Given the description of an element on the screen output the (x, y) to click on. 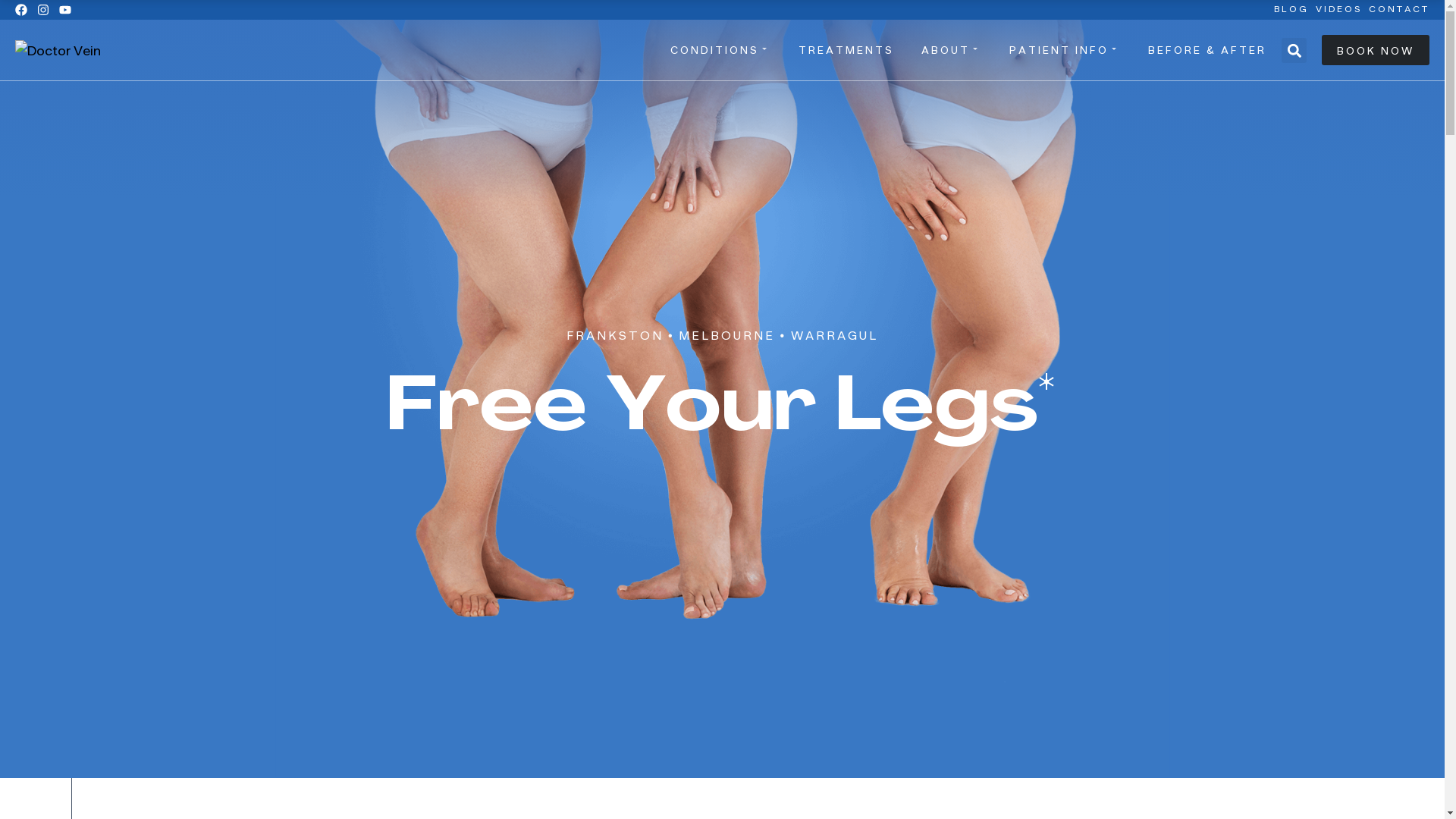
TREATMENTS Element type: text (846, 50)
CONDITIONS Element type: text (720, 50)
VIDEOS Element type: text (1338, 9)
PATIENT INFO Element type: text (1064, 50)
BOOK NOW Element type: text (1375, 49)
CONTACT Element type: text (1398, 9)
BLOG Element type: text (1291, 9)
BEFORE & AFTER Element type: text (1207, 50)
ABOUT Element type: text (951, 50)
